Given the description of an element on the screen output the (x, y) to click on. 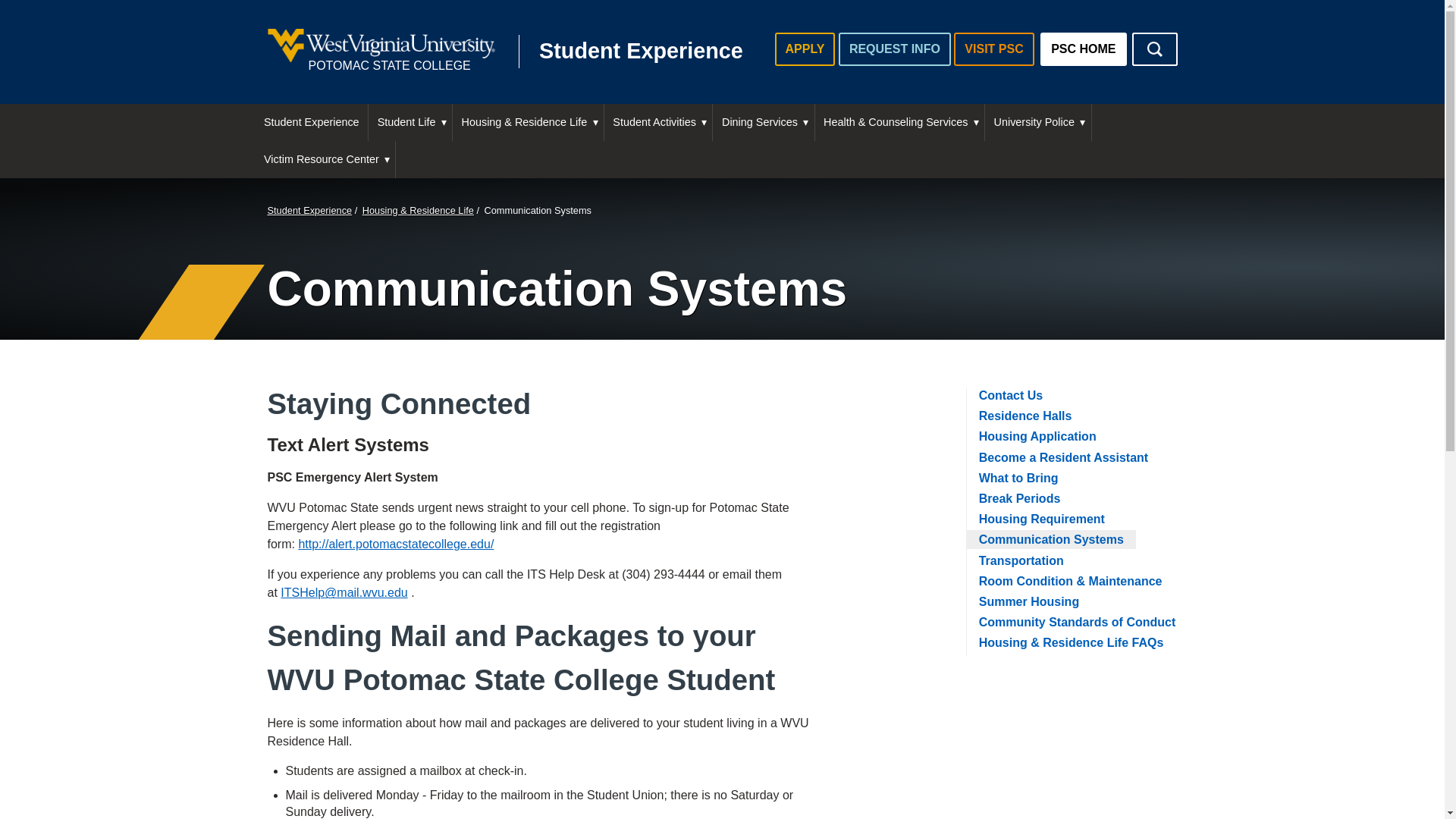
Submit Search (1153, 49)
REQUEST INFO (507, 52)
Submit Search (894, 49)
APPLY (1153, 49)
Submit Search (804, 49)
Student Experience (1153, 49)
VISIT PSC (311, 122)
Student Life (993, 49)
PSC HOME (409, 122)
